Given the description of an element on the screen output the (x, y) to click on. 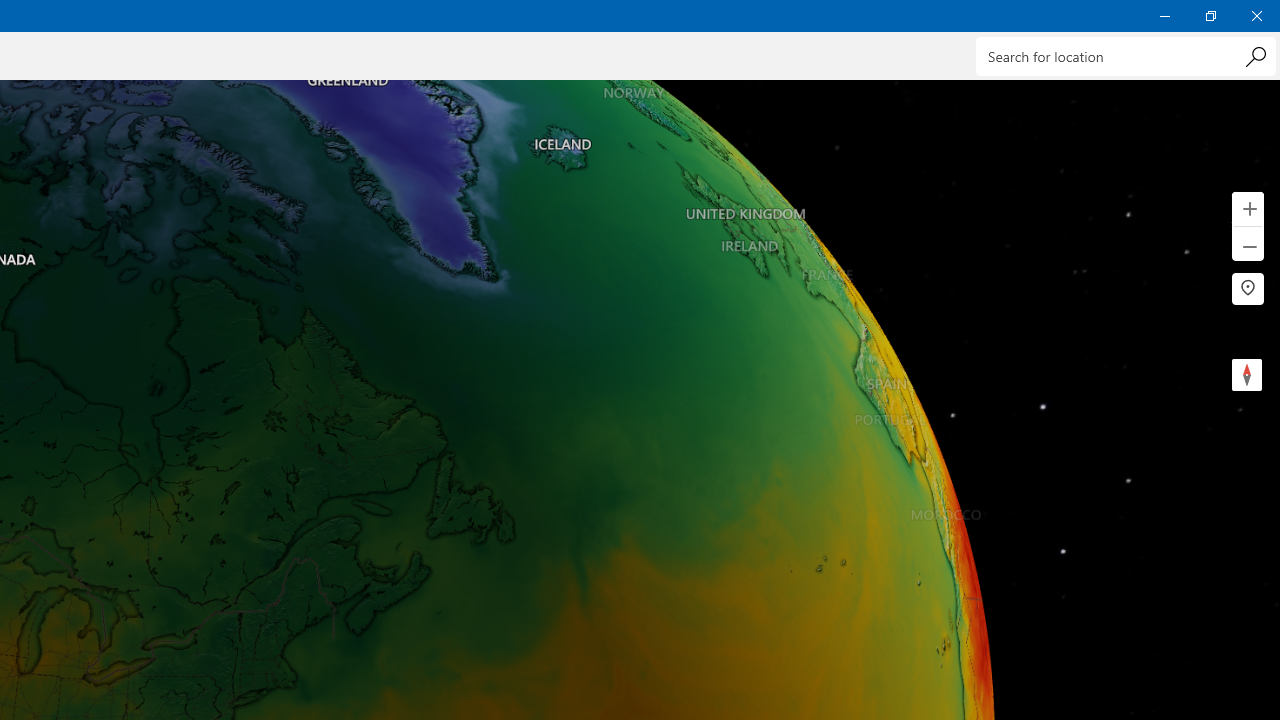
Search for location (1125, 56)
Search (1255, 56)
Close Weather (1256, 15)
Restore Weather (1210, 15)
Minimize Weather (1164, 15)
